Given the description of an element on the screen output the (x, y) to click on. 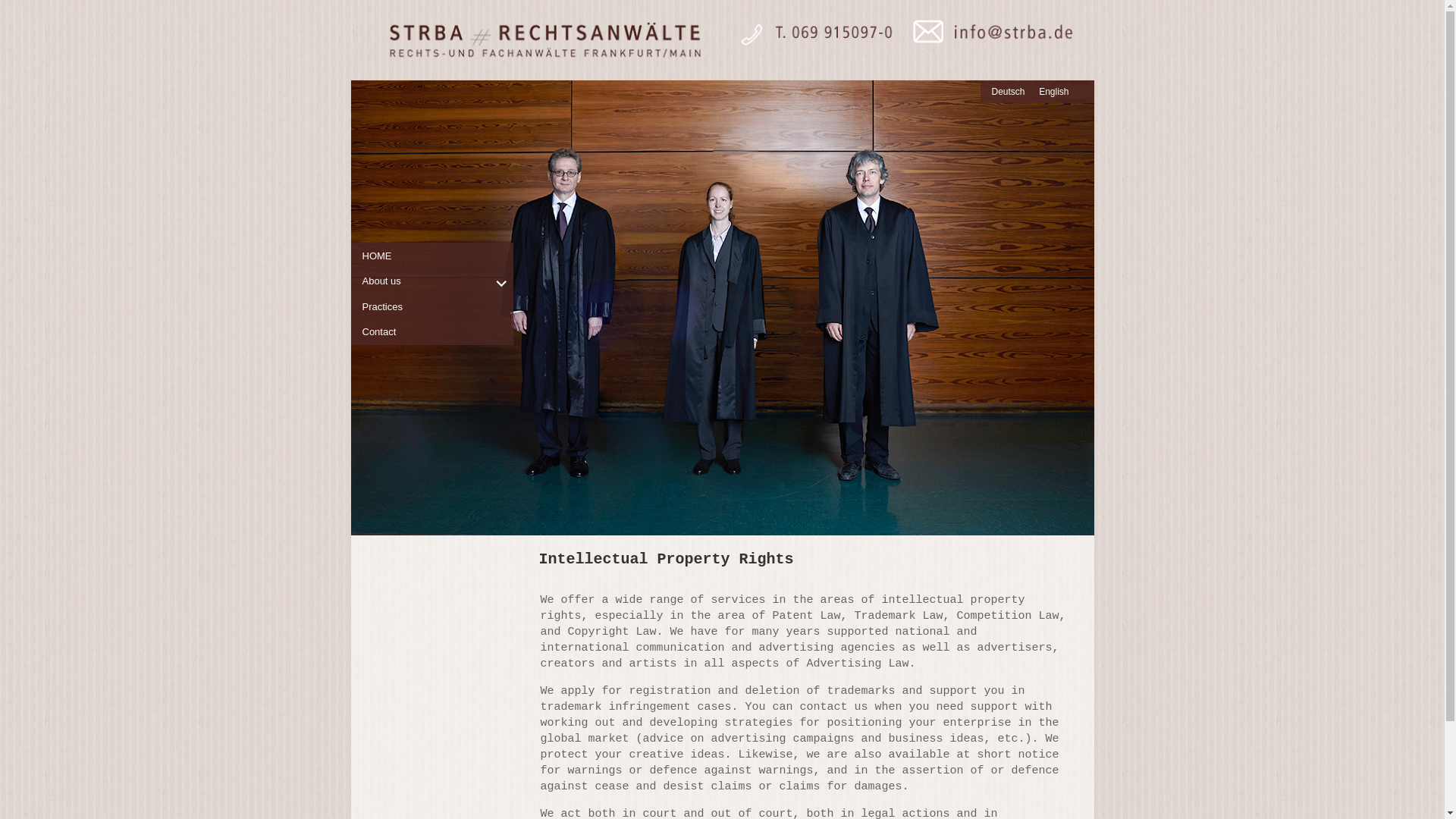
English (1053, 91)
STRBA - HOME (543, 40)
About us (437, 280)
Deutsch (1008, 91)
HOME (437, 255)
Contact (437, 332)
STRBA - TEL (809, 40)
expand child menu (499, 283)
STRBA - E-Mail (987, 40)
Practices (437, 306)
